Given the description of an element on the screen output the (x, y) to click on. 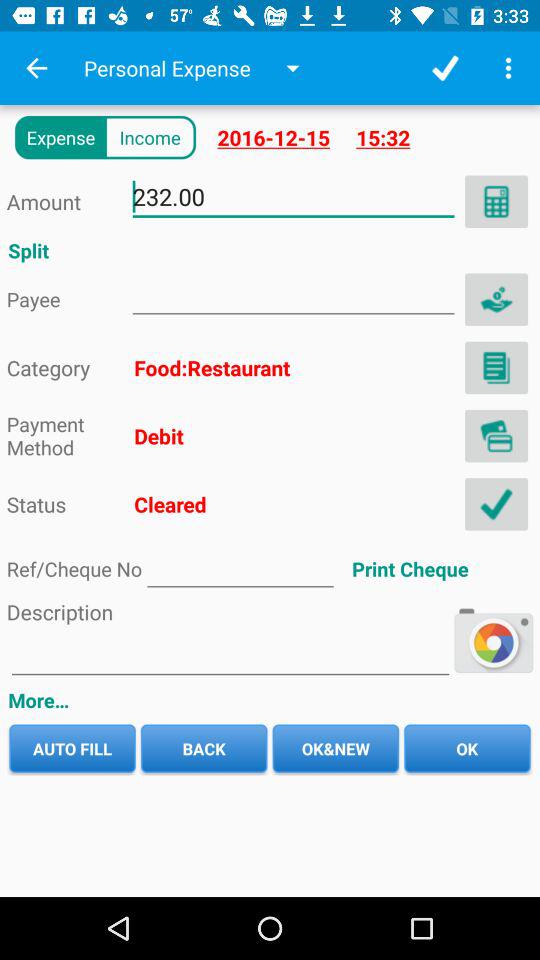
take care (496, 299)
